Given the description of an element on the screen output the (x, y) to click on. 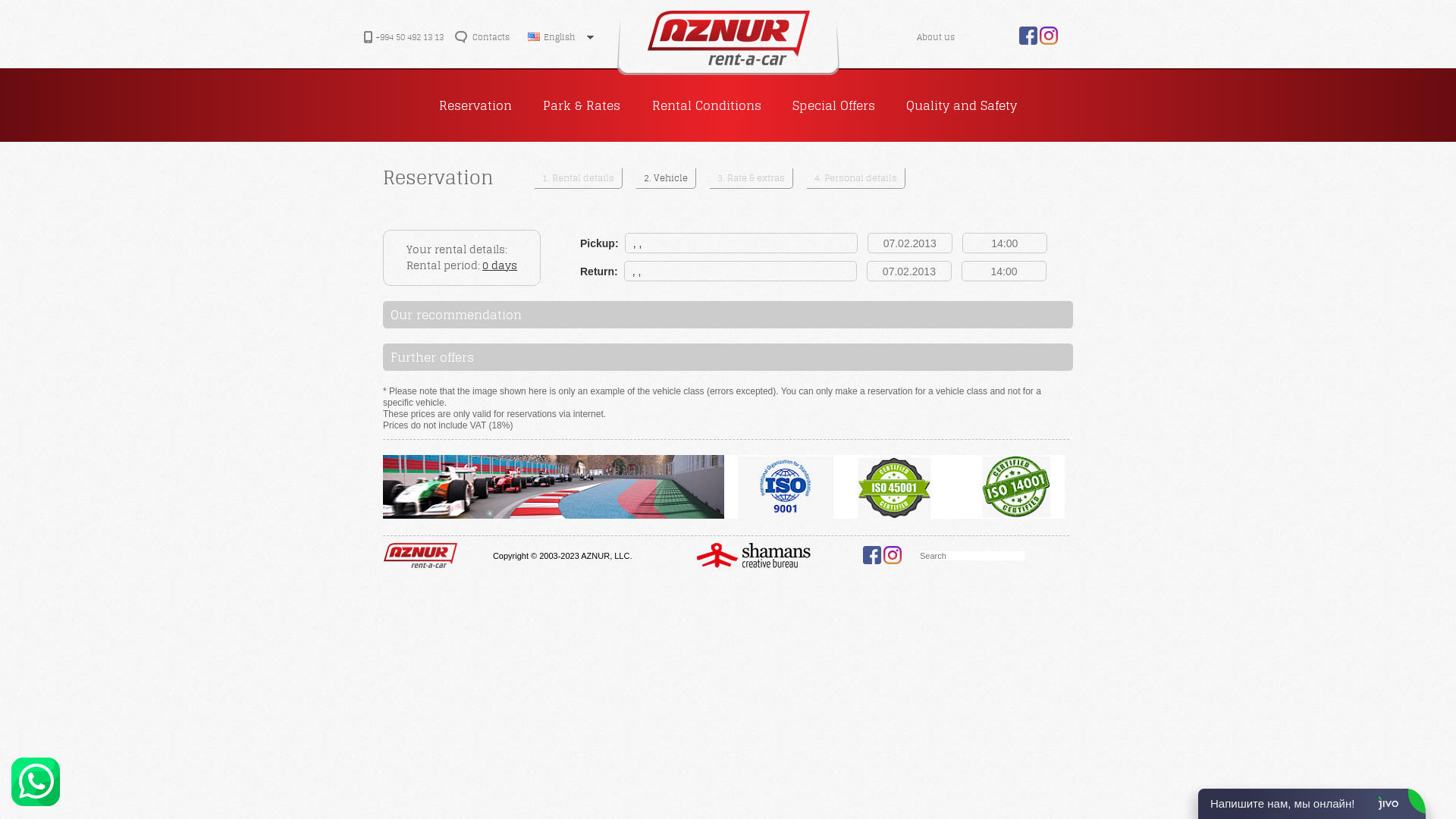
Rental Conditions Element type: text (705, 105)
 English Element type: text (566, 37)
Special Offers Element type: text (833, 105)
+994 50 492 13 13 Element type: text (409, 36)
2. Vehicle Element type: text (666, 178)
Quality and Safety Element type: text (961, 105)
Park & Rates Element type: text (581, 105)
1. Rental details Element type: text (578, 178)
4. Personal details Element type: text (855, 178)
About us Element type: text (946, 37)
3. Rate & extras Element type: text (751, 178)
Reservation Element type: text (475, 105)
Contacts Element type: text (490, 36)
